Given the description of an element on the screen output the (x, y) to click on. 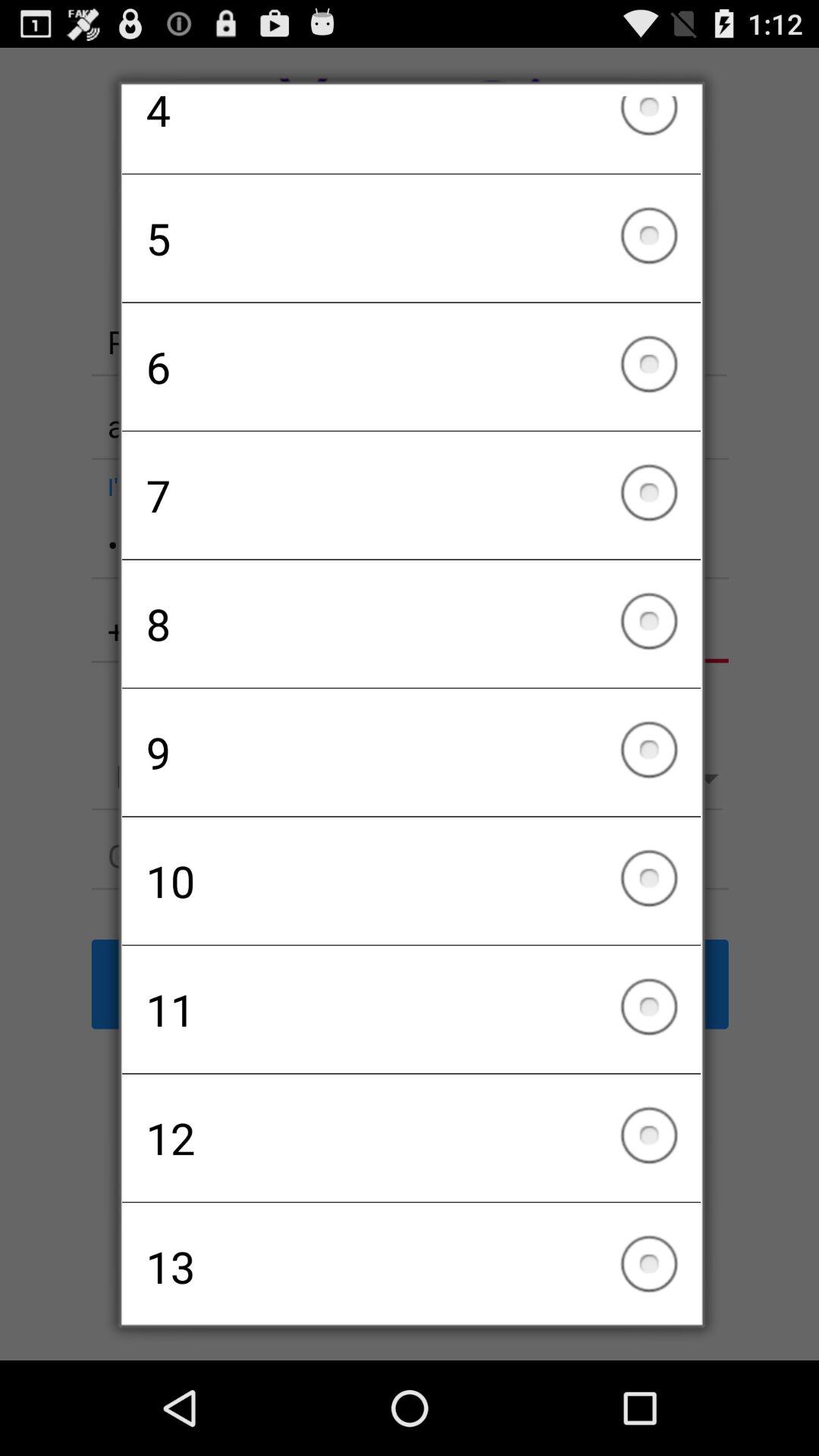
tap 13 checkbox (411, 1257)
